Given the description of an element on the screen output the (x, y) to click on. 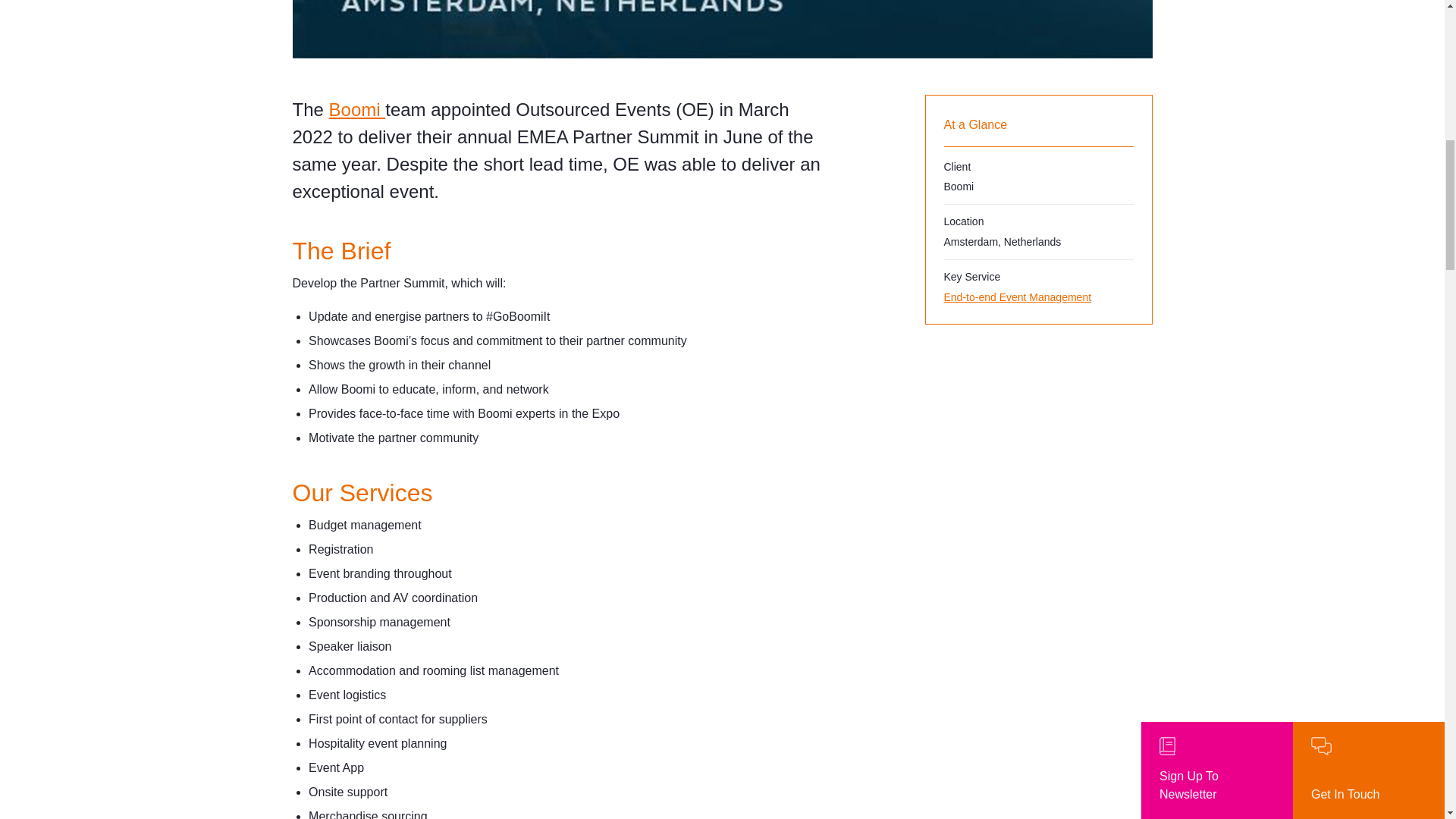
Boomi (357, 109)
Boomi (357, 109)
End-to-end Event Management (1037, 297)
